Given the description of an element on the screen output the (x, y) to click on. 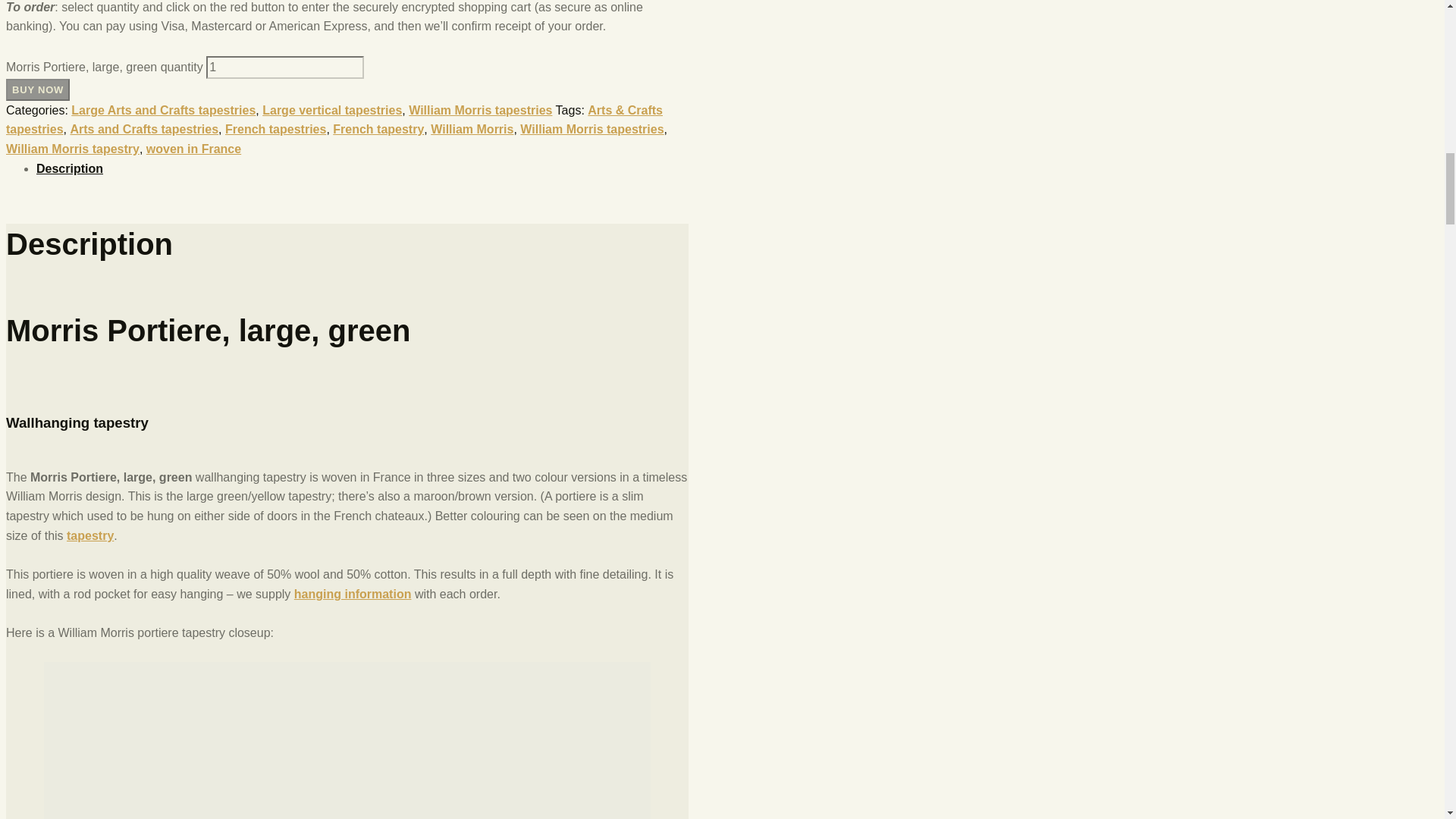
1 (285, 67)
